Given the description of an element on the screen output the (x, y) to click on. 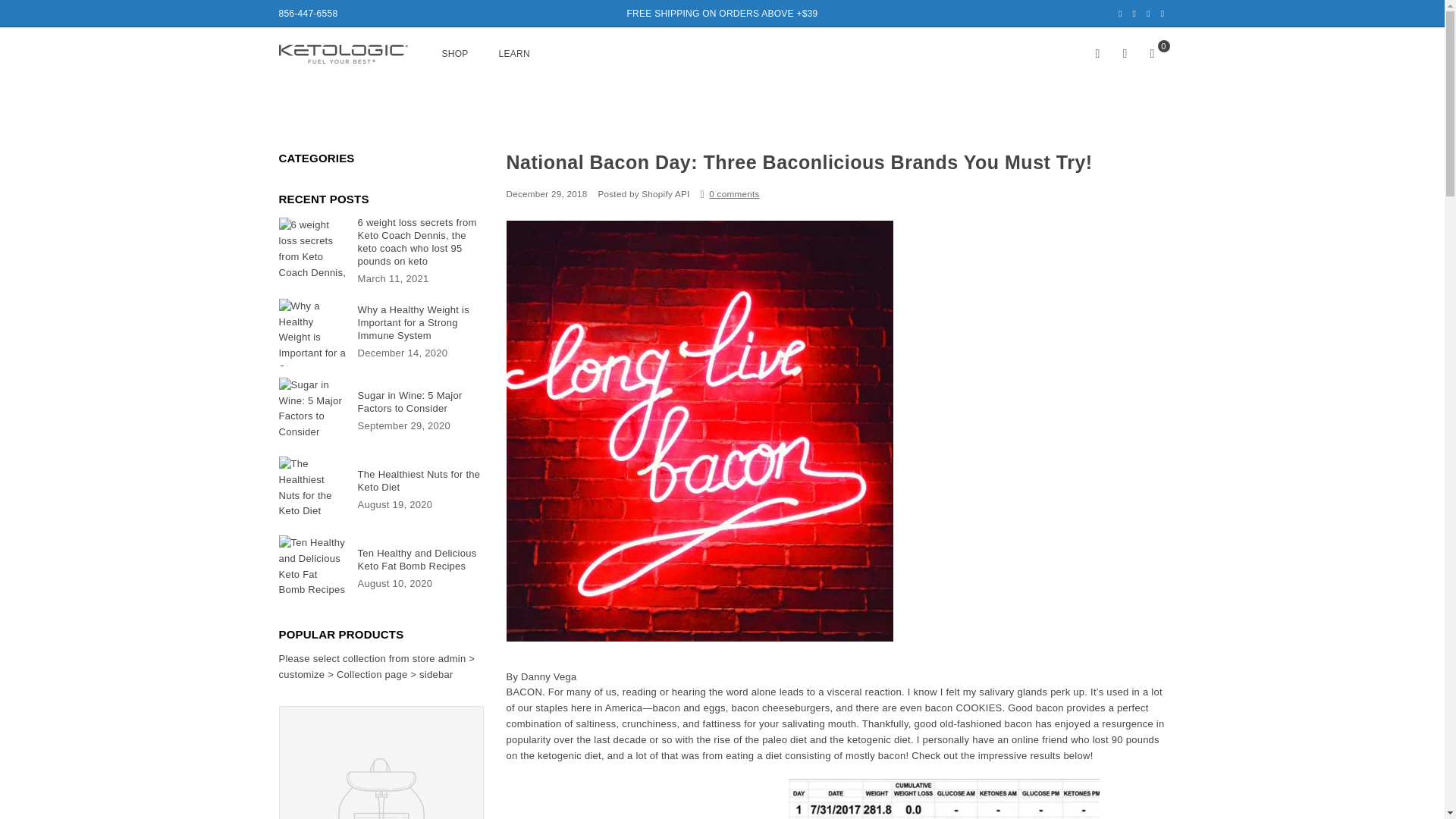
0 (1152, 53)
KetoLogic on Instagram (1163, 13)
LEARN (514, 54)
KetoLogic on Facebook (1119, 13)
Danny Vega (548, 676)
Search (1098, 53)
Twitter (1133, 13)
Settings (1125, 53)
0 comments (733, 194)
Facebook (1119, 13)
